Given the description of an element on the screen output the (x, y) to click on. 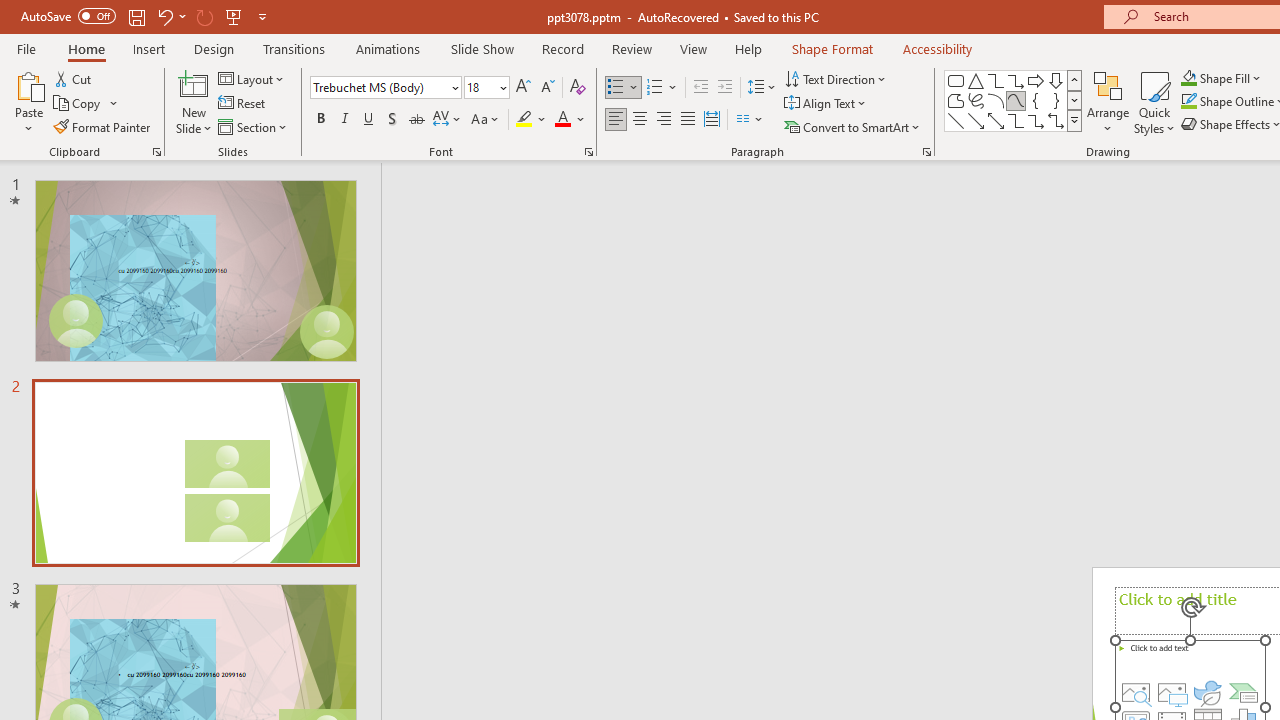
Connector: Elbow Double-Arrow (1055, 120)
Insert an Icon (1207, 692)
